Given the description of an element on the screen output the (x, y) to click on. 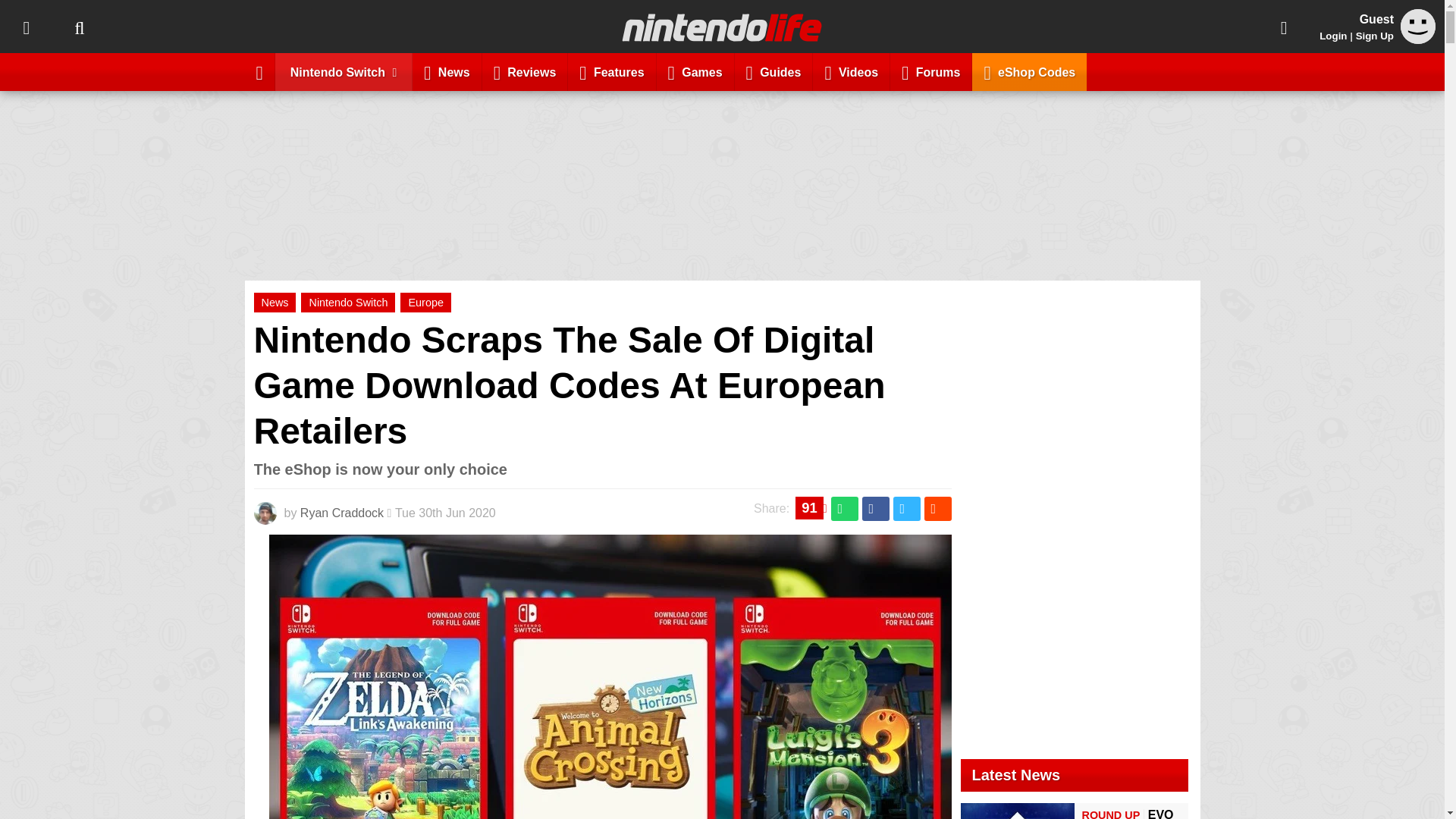
Share this on Twitter (906, 508)
Home (259, 71)
Nintendo Switch (344, 71)
Videos (850, 71)
Nintendo Life (721, 27)
Login (1332, 35)
Guest (1417, 39)
Share this on Facebook (874, 508)
Features (611, 71)
Reviews (525, 71)
Search (79, 26)
Share this on WhatsApp (845, 508)
News (446, 71)
Games (695, 71)
